Given the description of an element on the screen output the (x, y) to click on. 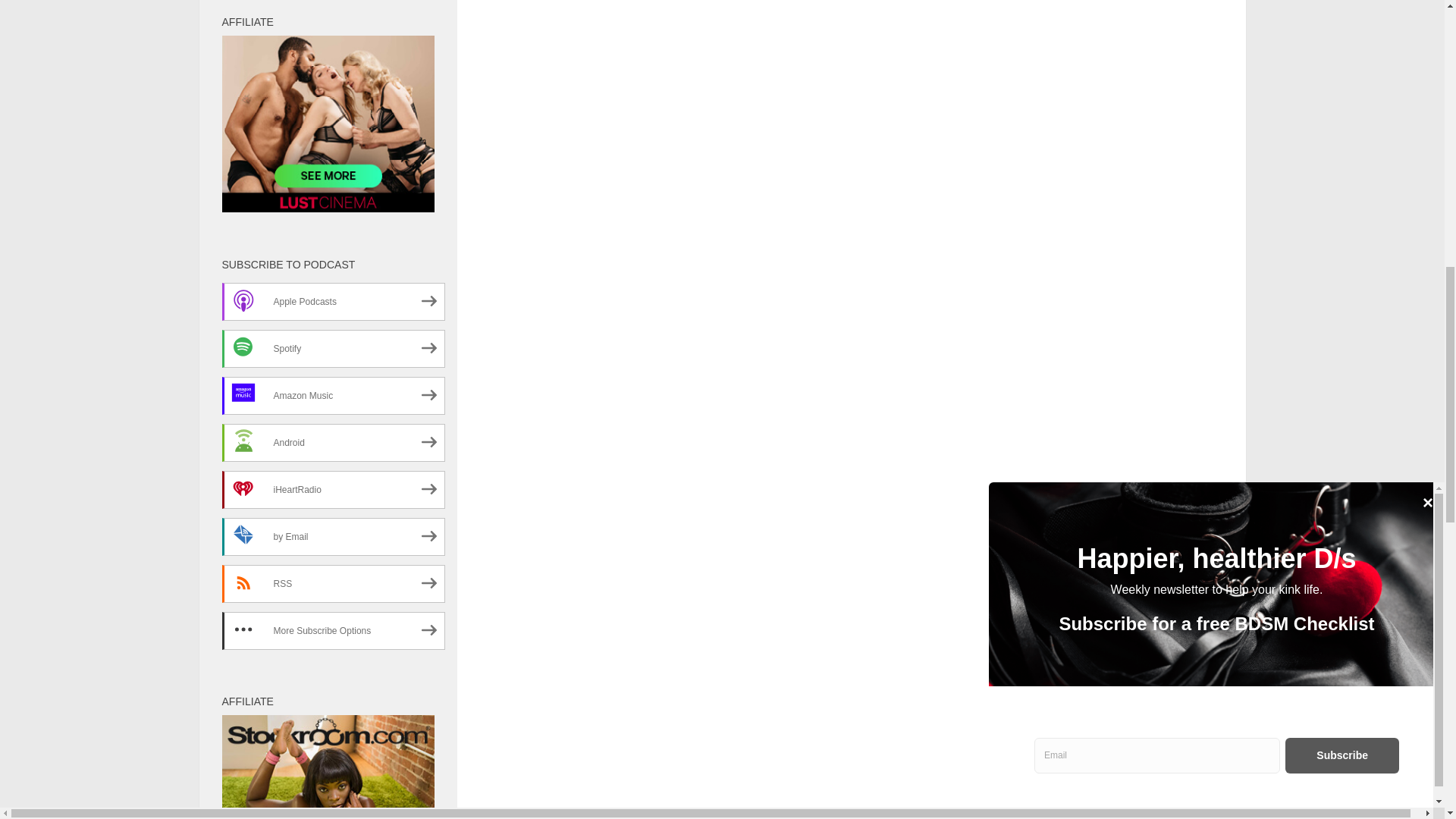
Subscribe on Apple Podcasts (332, 301)
Subscribe on Spotify (332, 348)
